Given the description of an element on the screen output the (x, y) to click on. 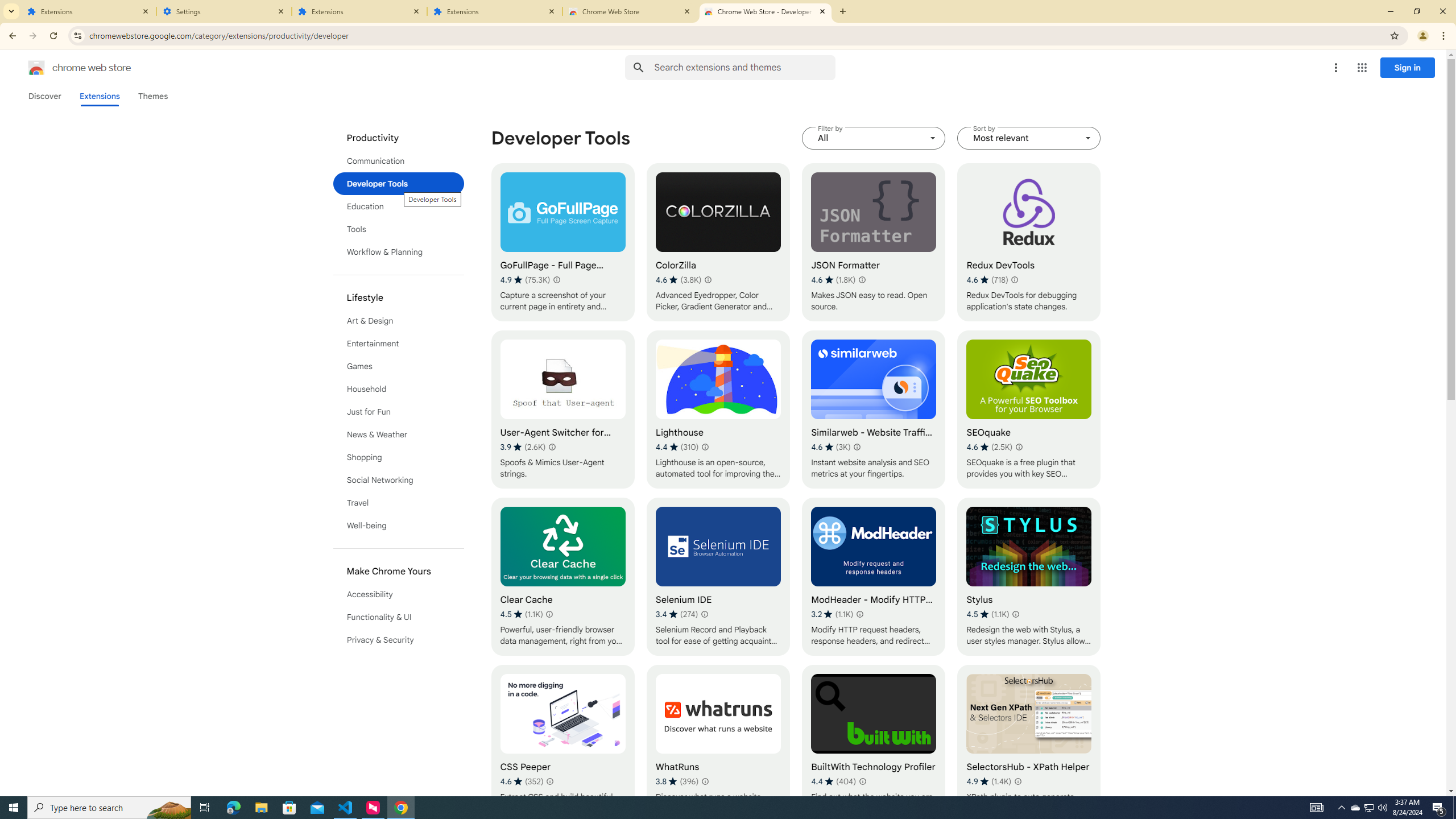
Accessibility (398, 594)
List of categories in Chrome Web Store. (398, 388)
ColorZilla (718, 241)
SEOquake (1028, 409)
Well-being (398, 525)
Chrome Web Store - Developer Tools (765, 11)
Average rating 4.4 out of 5 stars. 310 ratings. (676, 446)
Selenium IDE (718, 576)
Themes (152, 95)
Learn more about results and reviews "JSON Formatter" (862, 279)
Average rating 4.5 out of 5 stars. 1.1K ratings. (987, 613)
Just for Fun (398, 411)
